Given the description of an element on the screen output the (x, y) to click on. 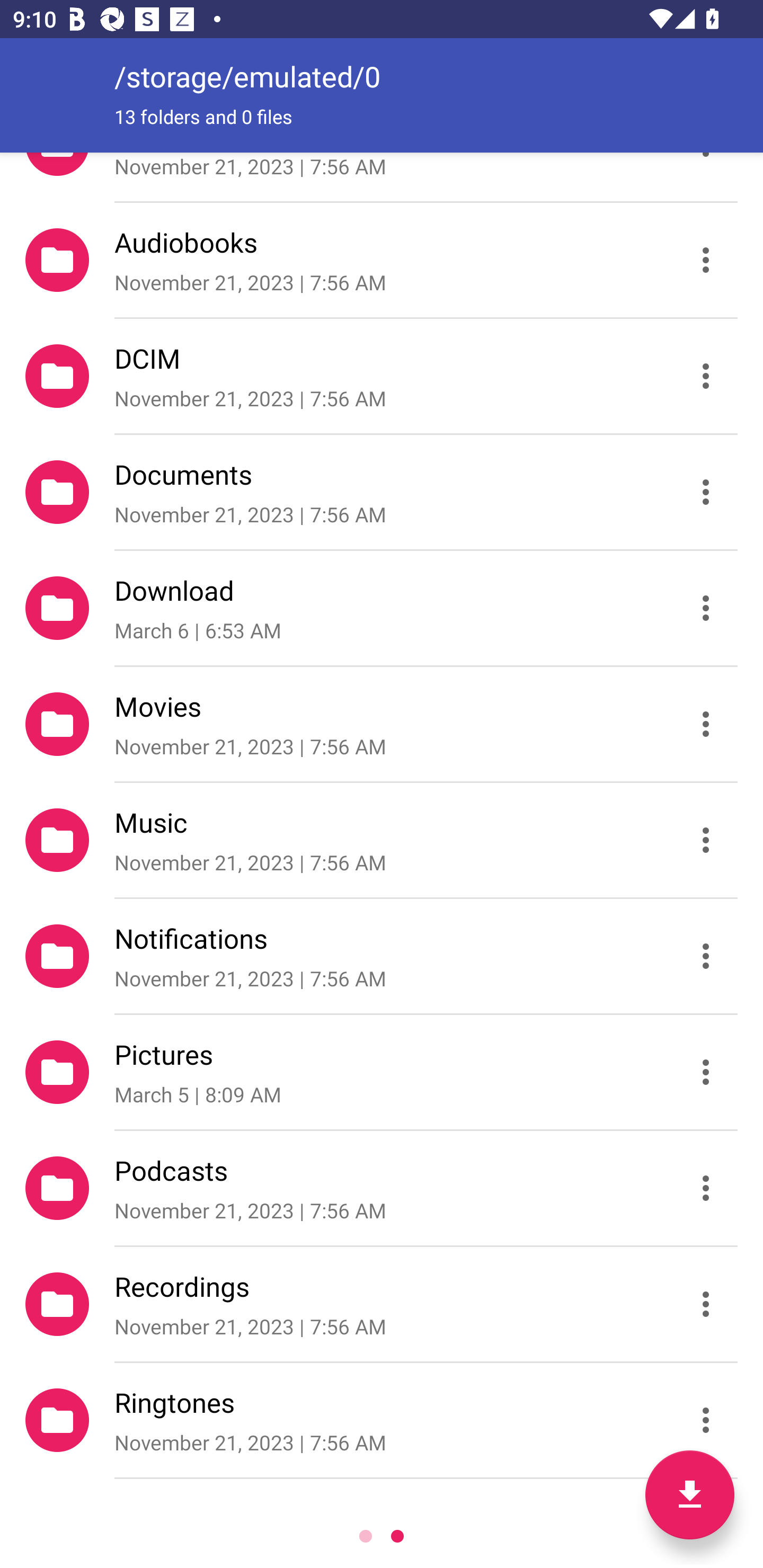
Audiobooks November 21, 2023 | 7:56 AM (381, 259)
DCIM November 21, 2023 | 7:56 AM (381, 375)
Documents November 21, 2023 | 7:56 AM (381, 491)
Download March 6 | 6:53 AM (381, 607)
Movies November 21, 2023 | 7:56 AM (381, 723)
Music November 21, 2023 | 7:56 AM (381, 839)
Notifications November 21, 2023 | 7:56 AM (381, 955)
Pictures March 5 | 8:09 AM (381, 1071)
Podcasts November 21, 2023 | 7:56 AM (381, 1187)
Recordings November 21, 2023 | 7:56 AM (381, 1303)
Ringtones November 21, 2023 | 7:56 AM (381, 1419)
